Given the description of an element on the screen output the (x, y) to click on. 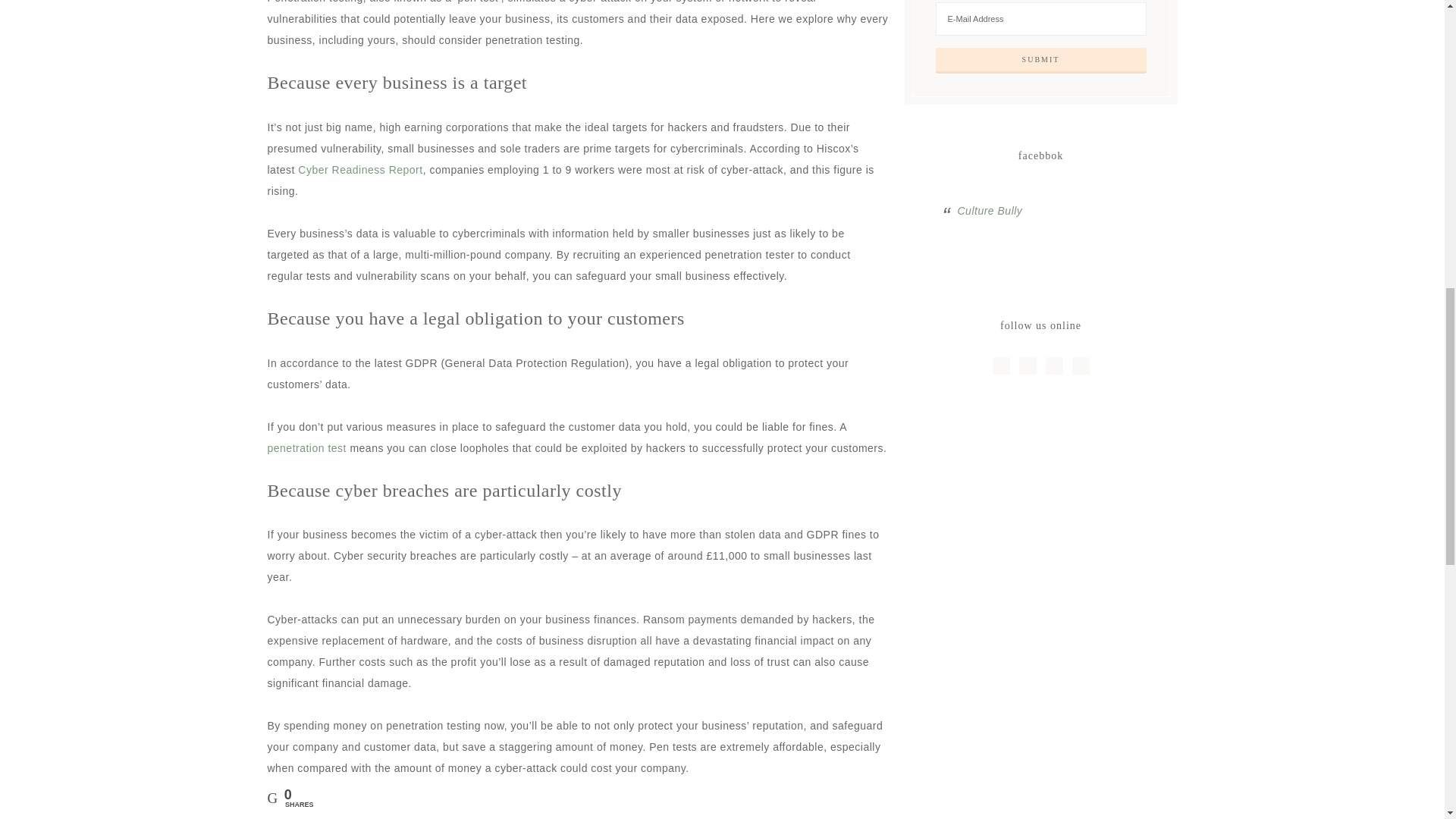
Cyber Readiness Report (360, 169)
penetration test (306, 448)
Submit (1041, 60)
Culture Bully (989, 210)
Submit (1041, 60)
